Given the description of an element on the screen output the (x, y) to click on. 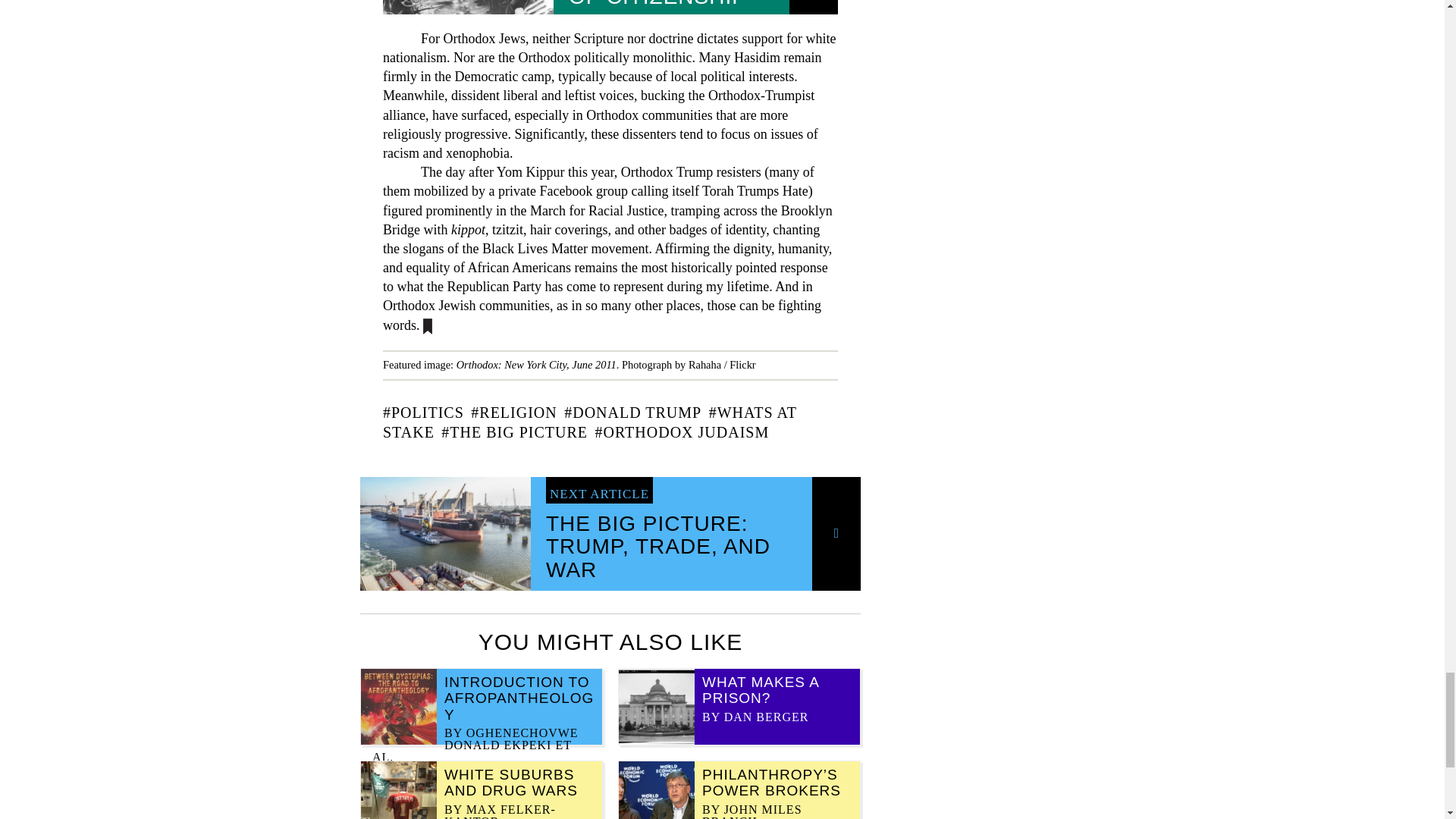
White Suburbs and Drug Wars (511, 782)
What Makes a Prison? (759, 689)
Introduction to Afropantheology (519, 698)
